Given the description of an element on the screen output the (x, y) to click on. 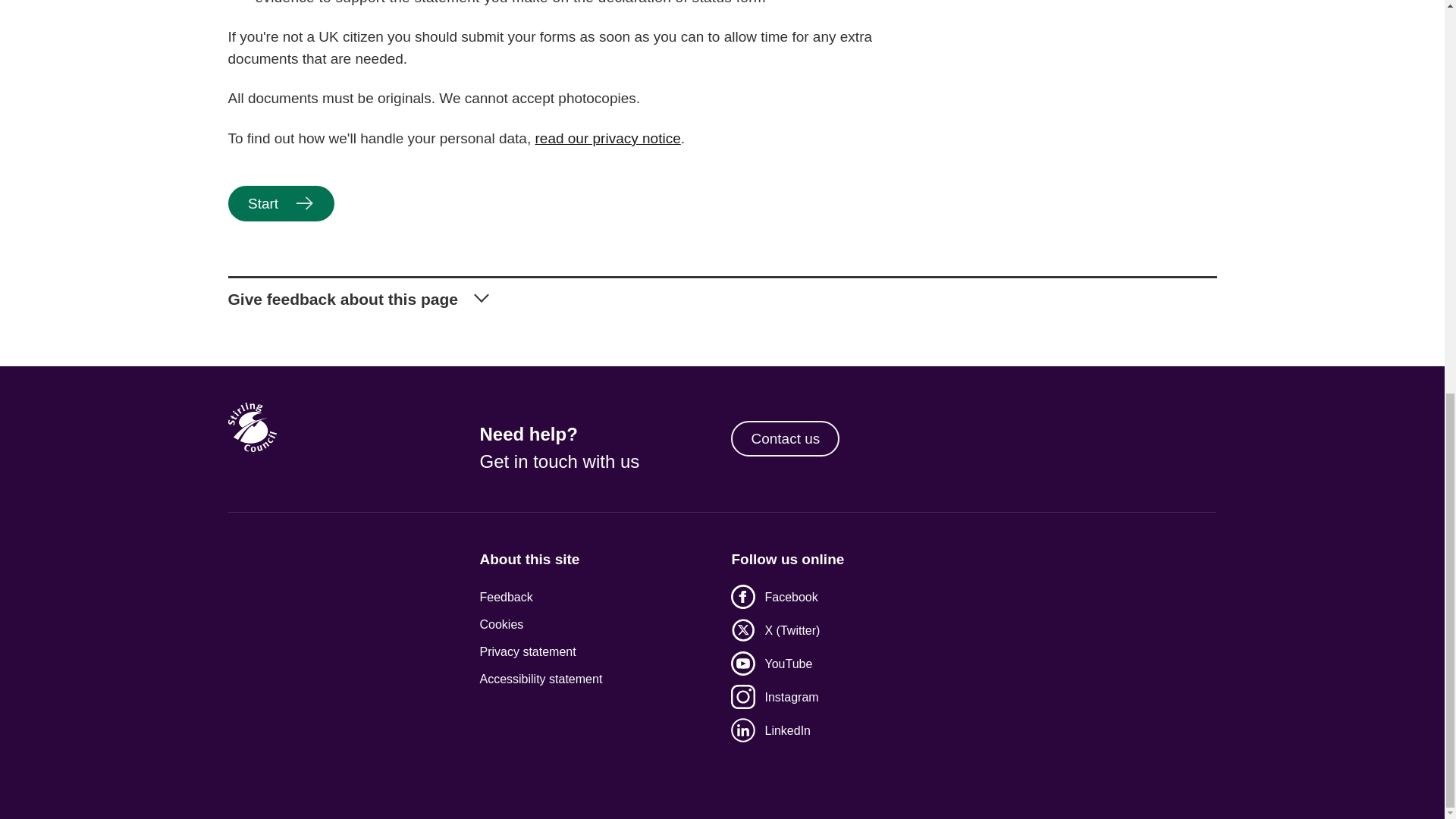
Start (280, 203)
National Records of Scotland registration privacy notice (608, 138)
Contact us (785, 438)
read our privacy notice (608, 138)
Feedback (596, 597)
Give feedback about this page (721, 294)
